Given the description of an element on the screen output the (x, y) to click on. 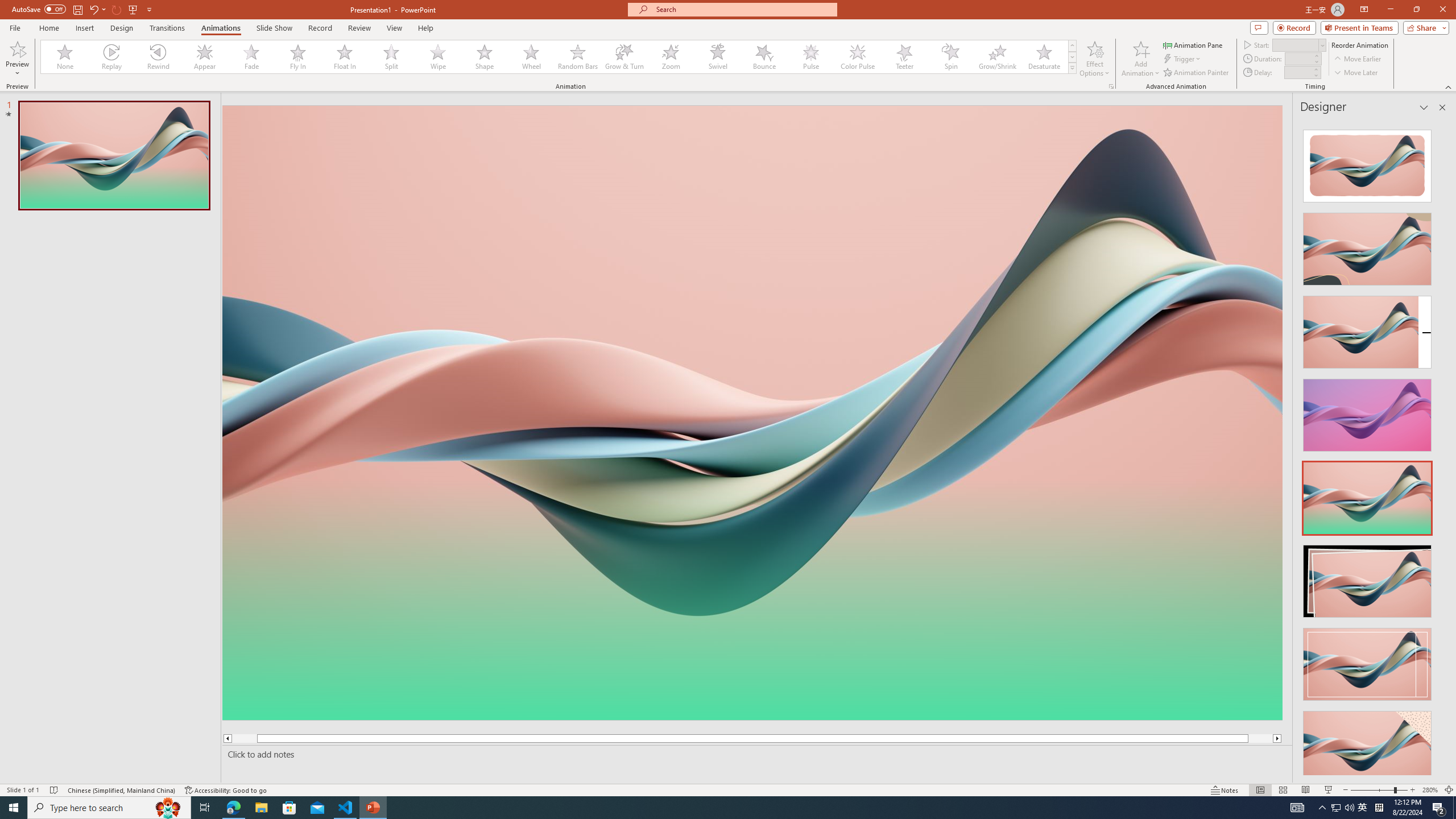
Effect Options (1094, 58)
Spin (950, 56)
